Given the description of an element on the screen output the (x, y) to click on. 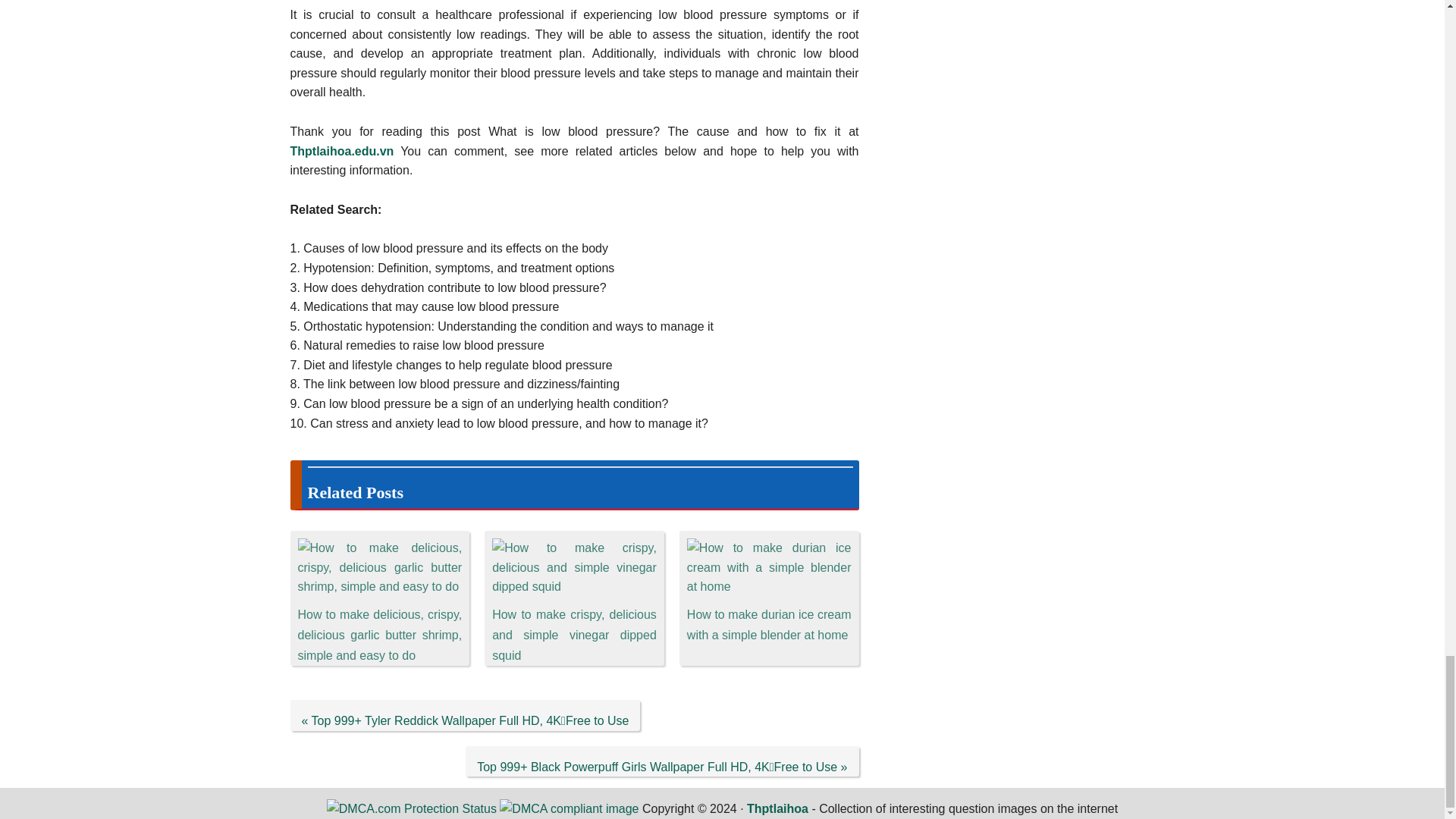
How to make durian ice cream with a simple blender at home (769, 624)
Thptlaihoa (777, 808)
Thptlaihoa.edu.vn (341, 151)
